Given the description of an element on the screen output the (x, y) to click on. 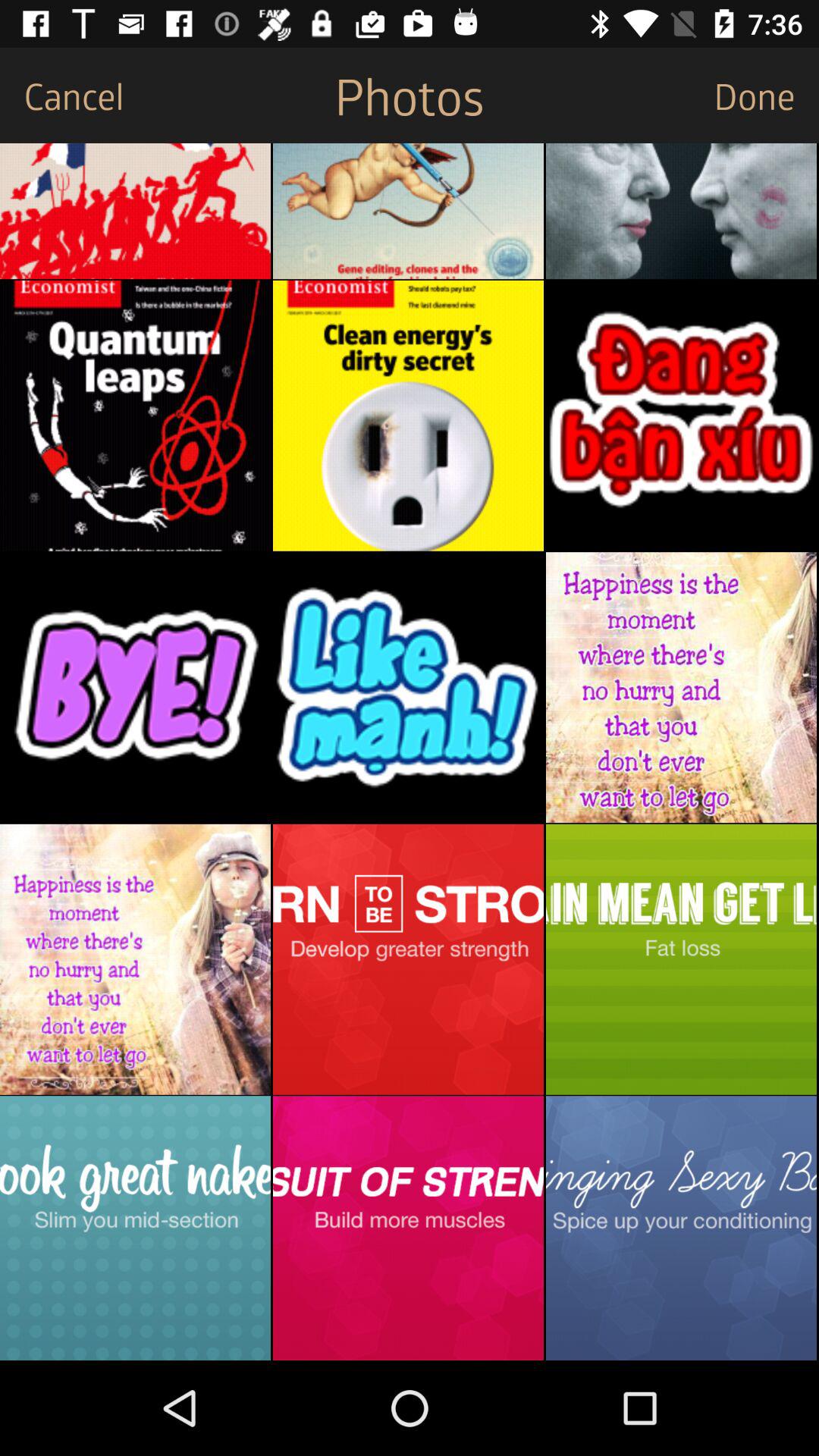
select photo (681, 687)
